Given the description of an element on the screen output the (x, y) to click on. 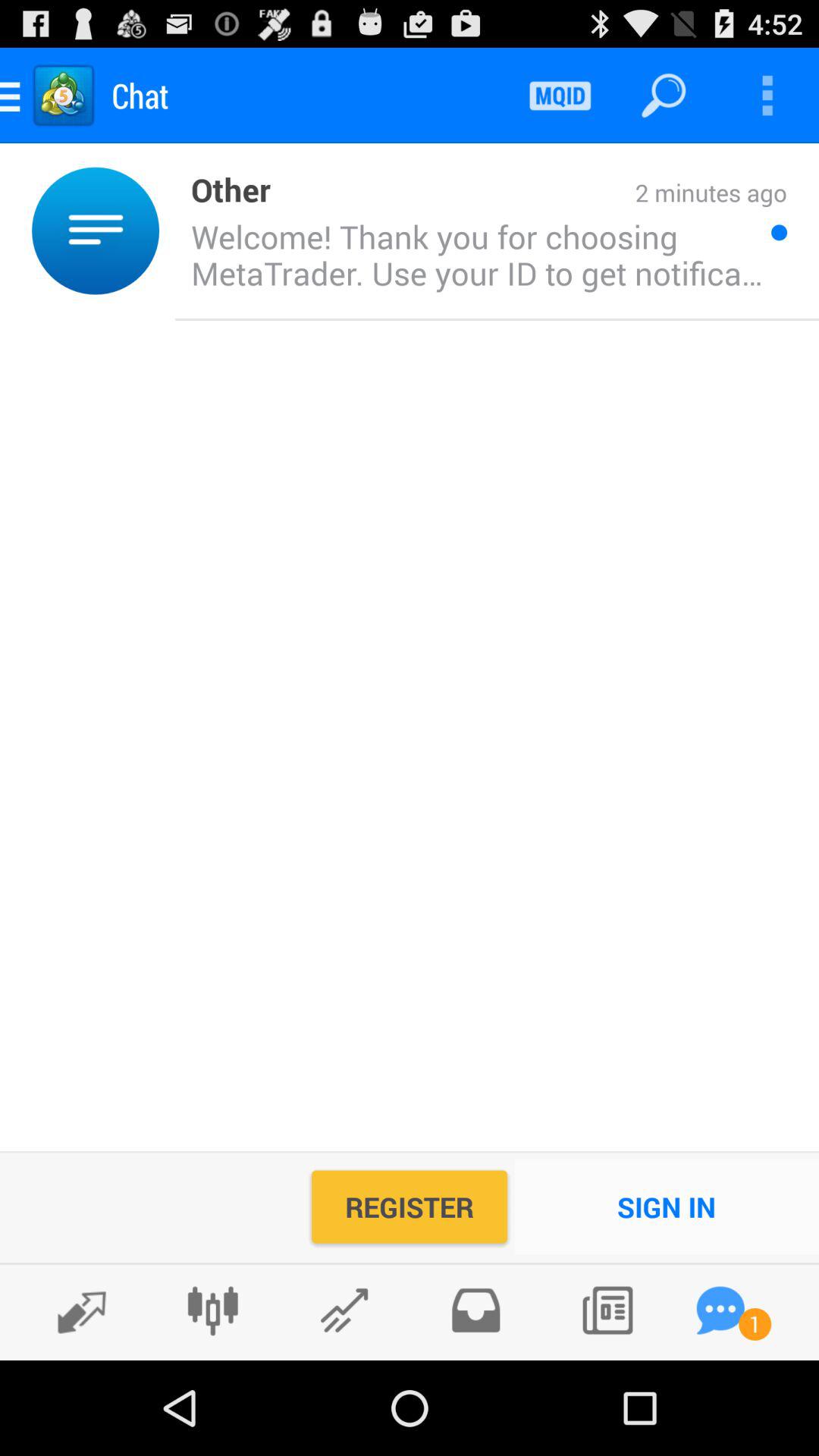
charts (212, 1310)
